Given the description of an element on the screen output the (x, y) to click on. 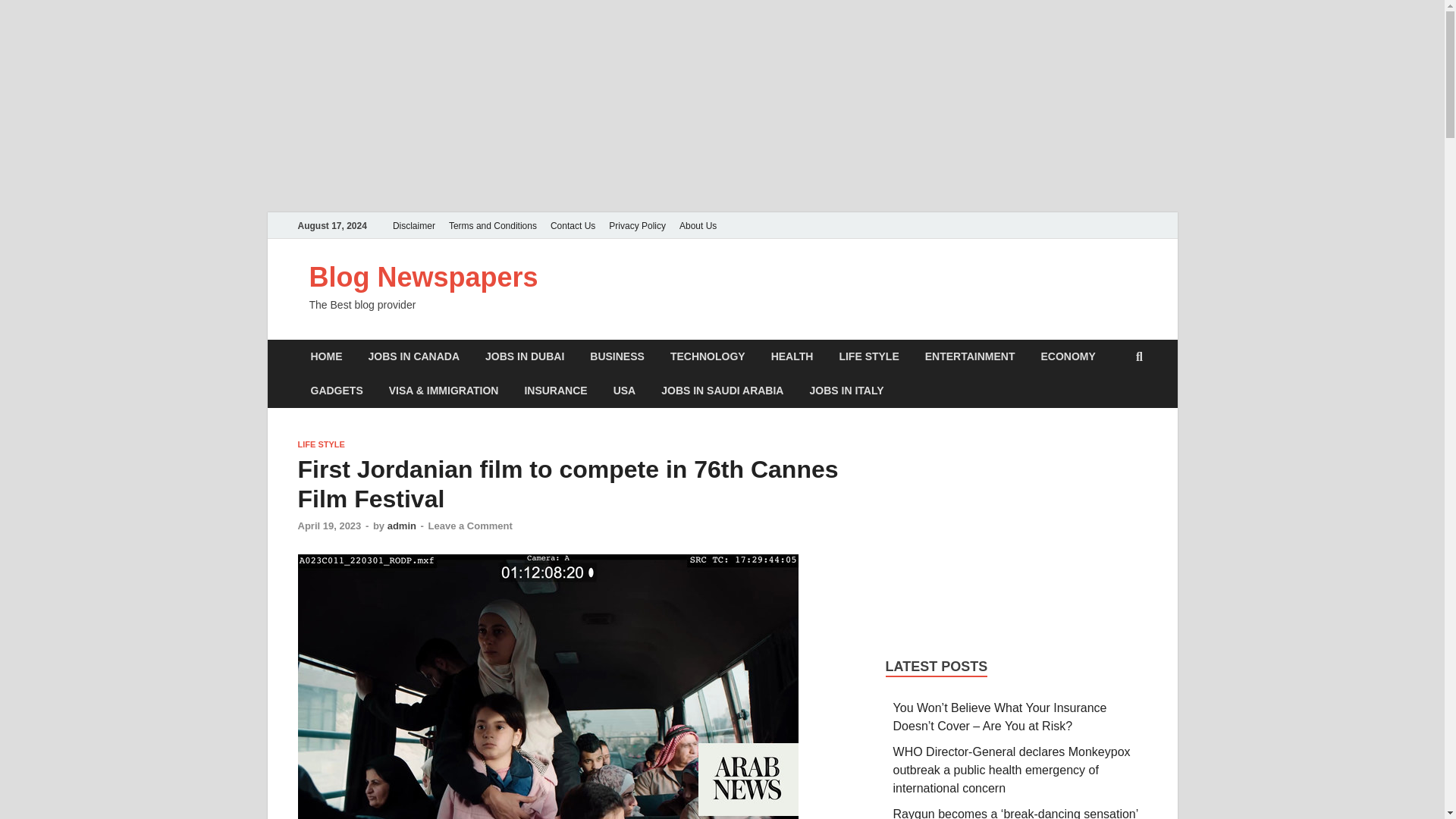
GADGETS (336, 390)
Blog Newspapers (423, 276)
Contact Us (572, 225)
Leave a Comment (470, 525)
About Us (697, 225)
LIFE STYLE (868, 356)
April 19, 2023 (329, 525)
JOBS IN DUBAI (523, 356)
USA (624, 390)
Disclaimer (413, 225)
